Given the description of an element on the screen output the (x, y) to click on. 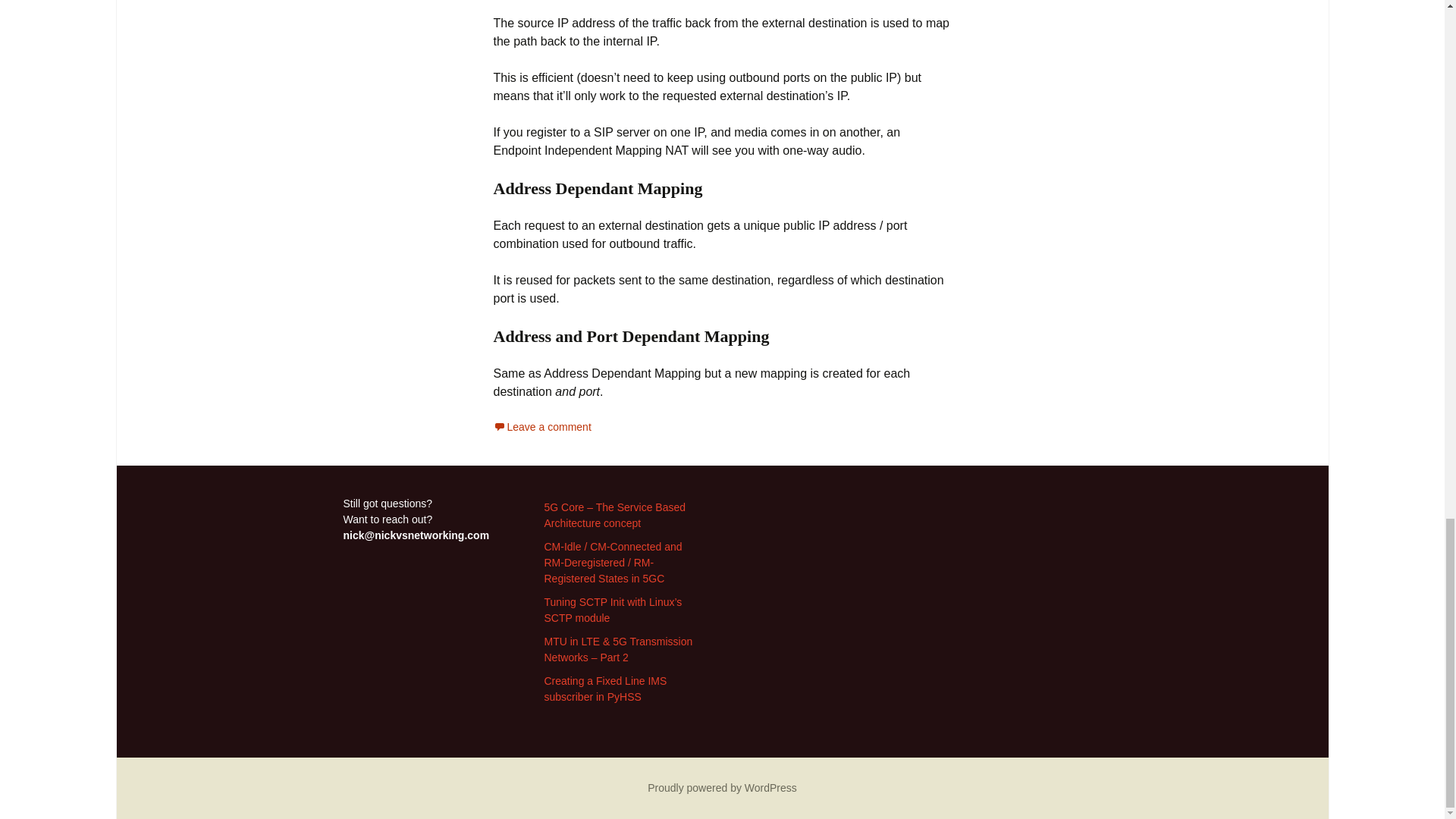
Creating a Fixed Line IMS subscriber in PyHSS (605, 688)
Proudly powered by WordPress (721, 787)
Leave a comment (542, 426)
